Given the description of an element on the screen output the (x, y) to click on. 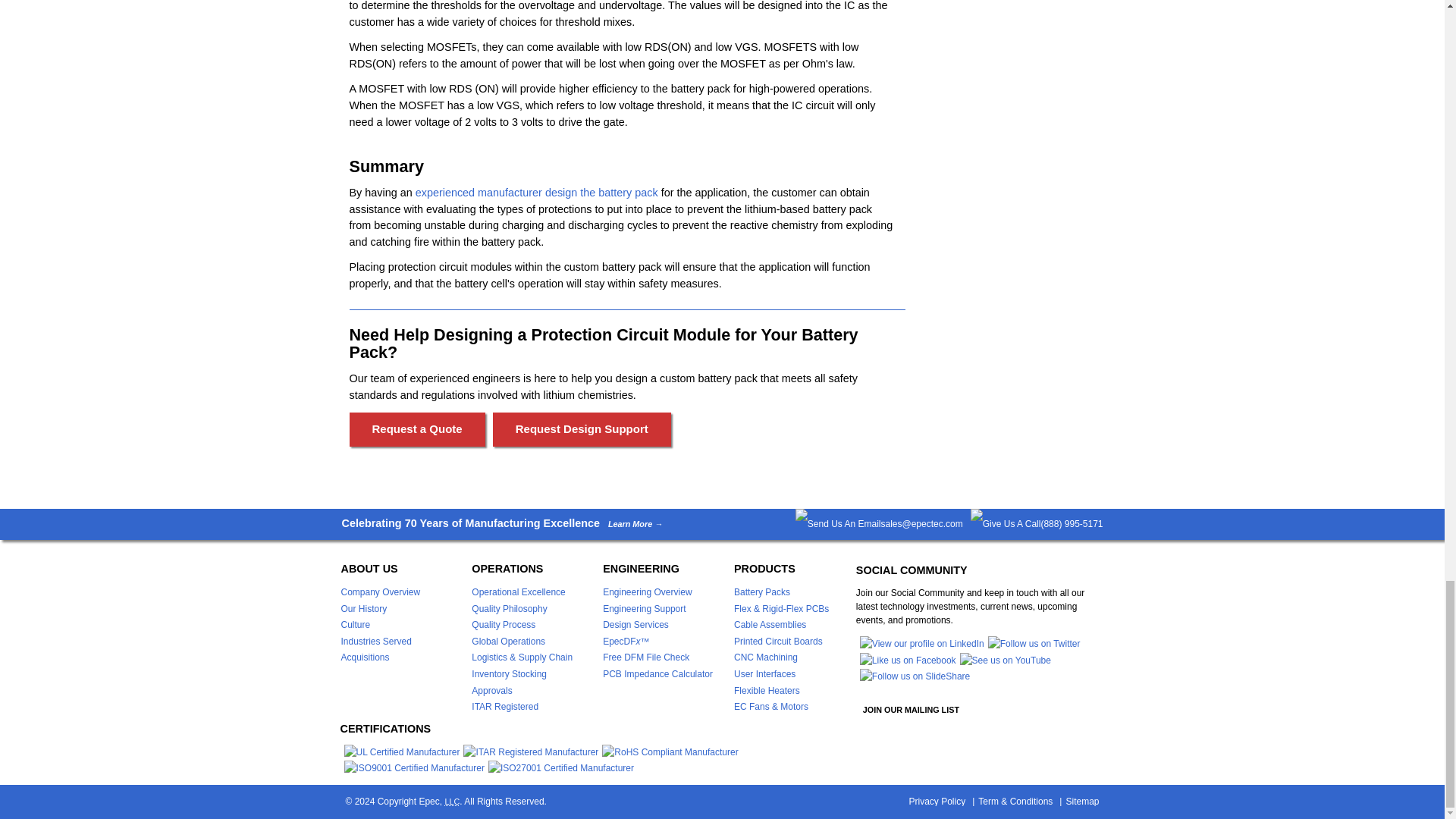
Request a Quote (416, 429)
Request Design Support (582, 429)
